Given the description of an element on the screen output the (x, y) to click on. 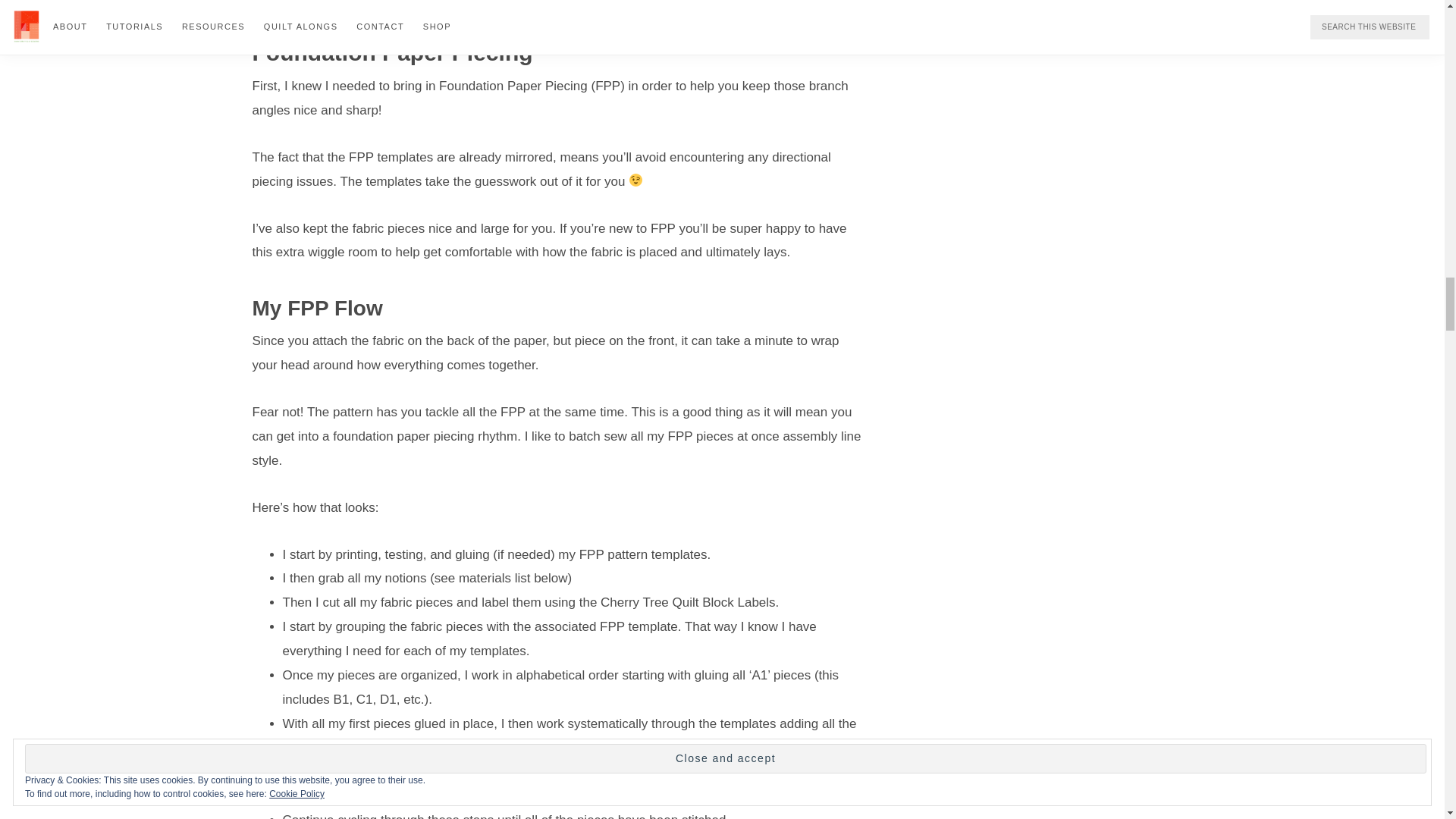
see the concept in action in this tutorial (469, 771)
